Given the description of an element on the screen output the (x, y) to click on. 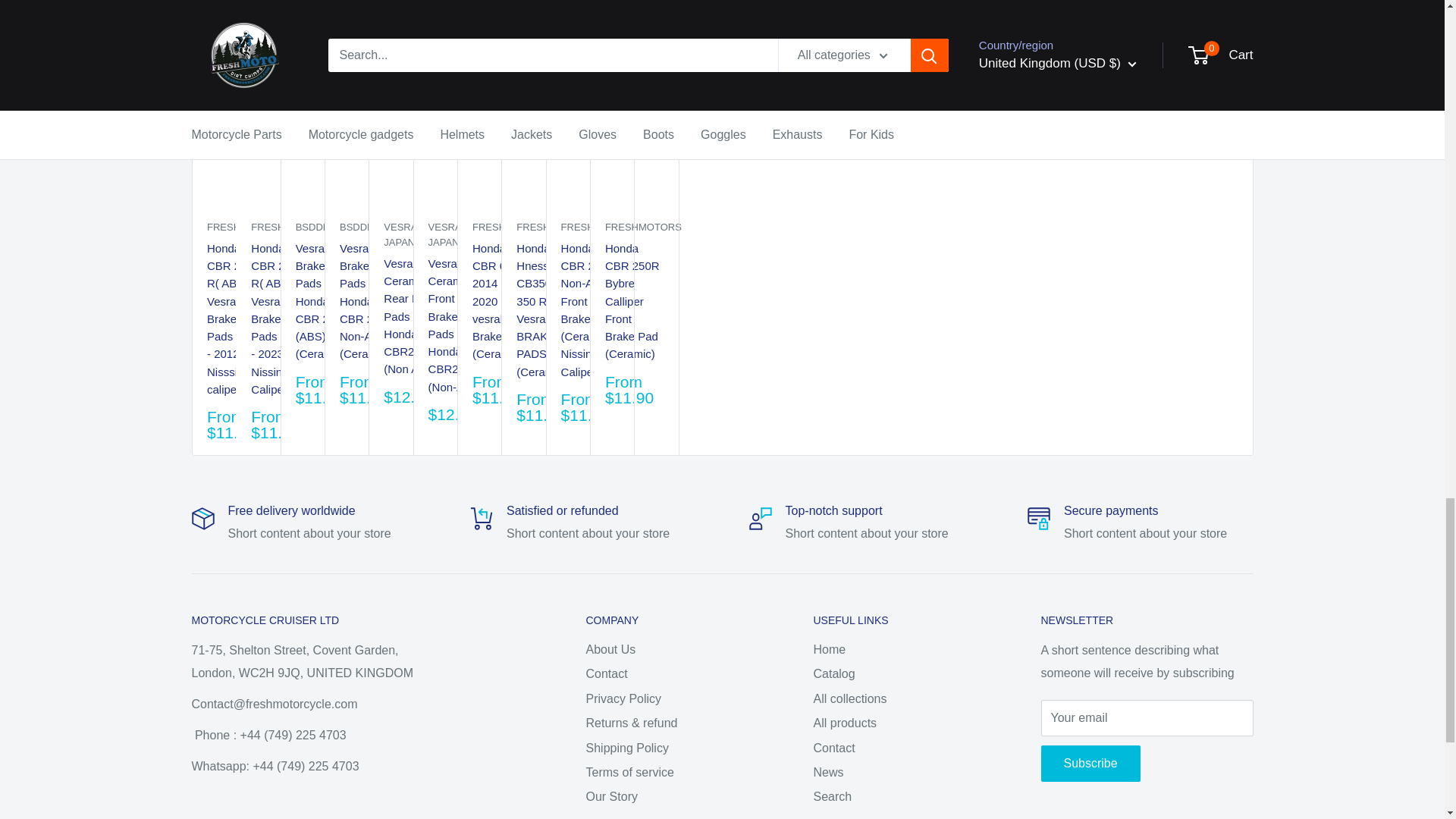
Advertisement (987, 244)
